Given the description of an element on the screen output the (x, y) to click on. 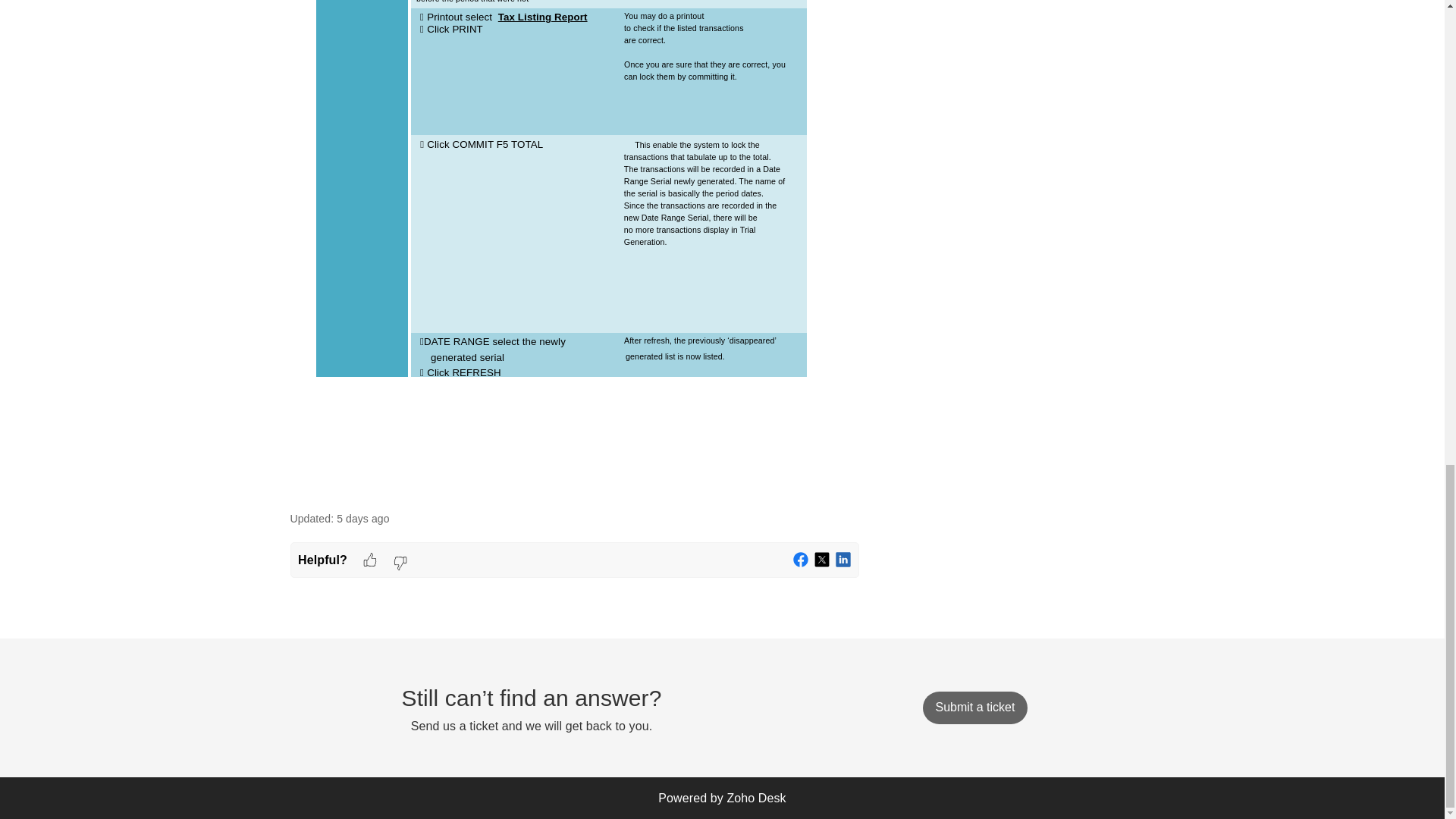
07 Aug 2024 03:14 PM (363, 518)
Twitter (821, 559)
LinkedIn (842, 559)
Facebook (800, 559)
